Given the description of an element on the screen output the (x, y) to click on. 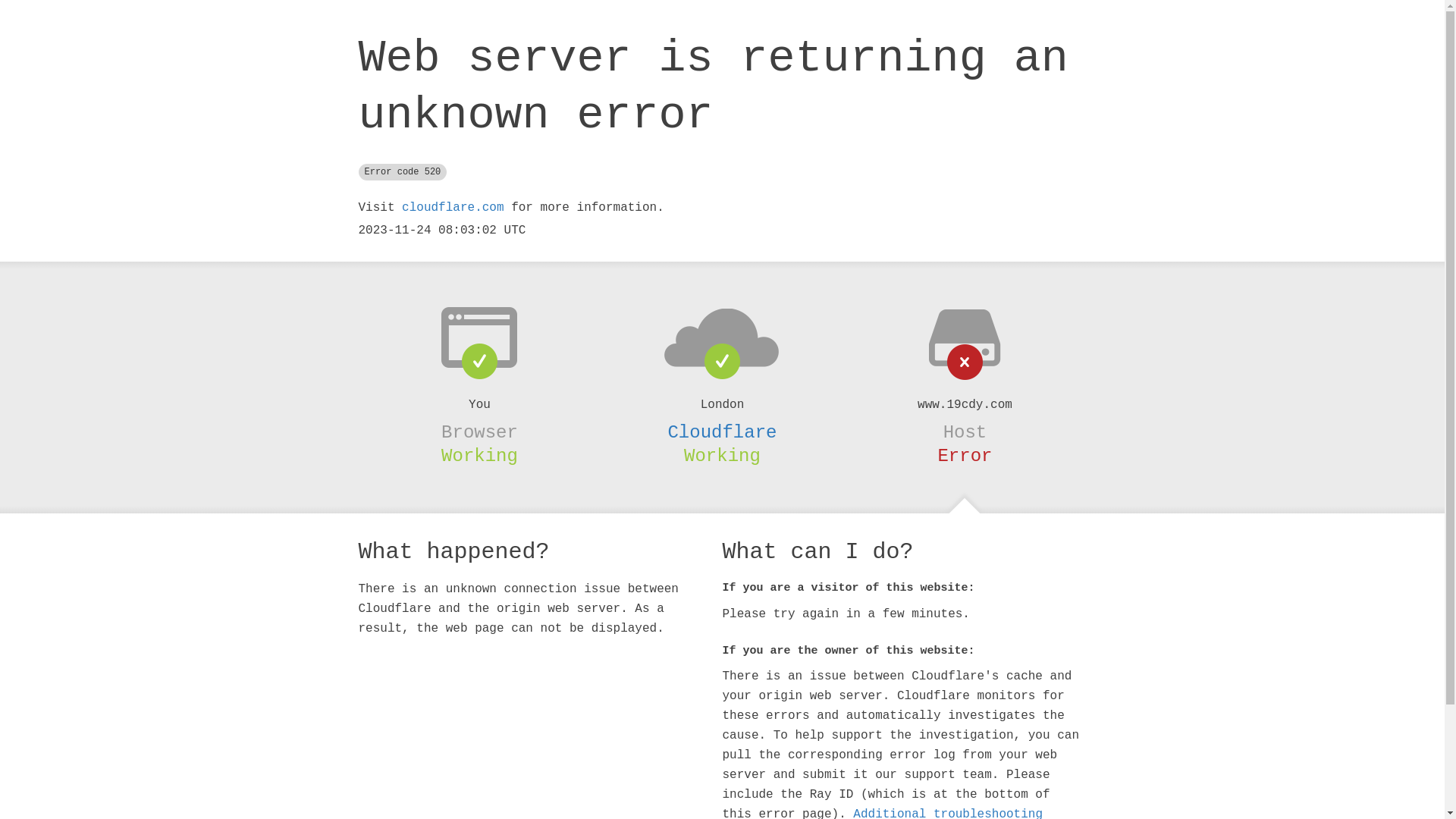
cloudflare.com Element type: text (452, 207)
Cloudflare Element type: text (721, 432)
